Given the description of an element on the screen output the (x, y) to click on. 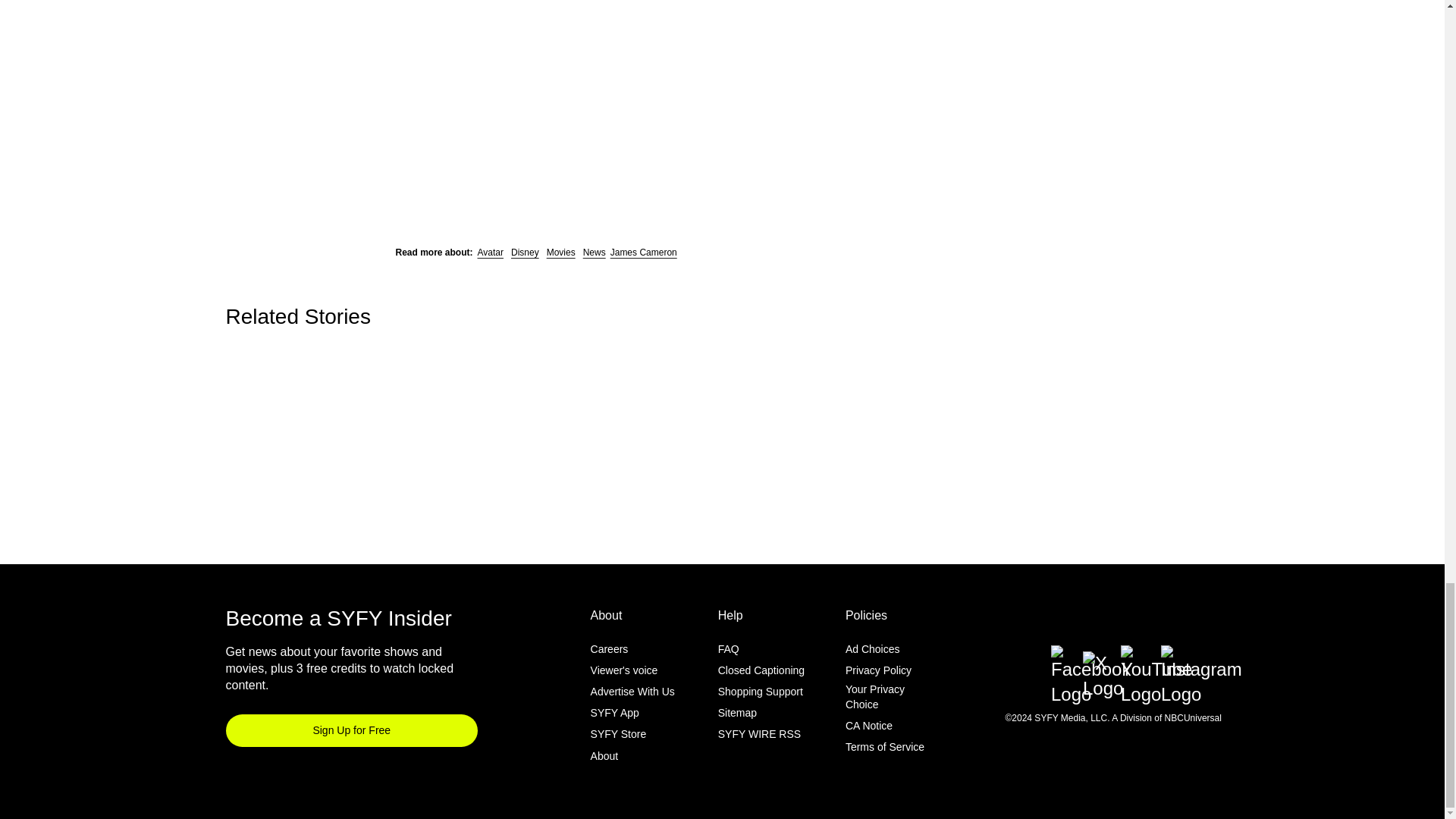
News (594, 252)
Avatar (490, 252)
Movies (561, 252)
James Cameron (643, 252)
Advertise With Us (633, 691)
Disney (524, 252)
